Given the description of an element on the screen output the (x, y) to click on. 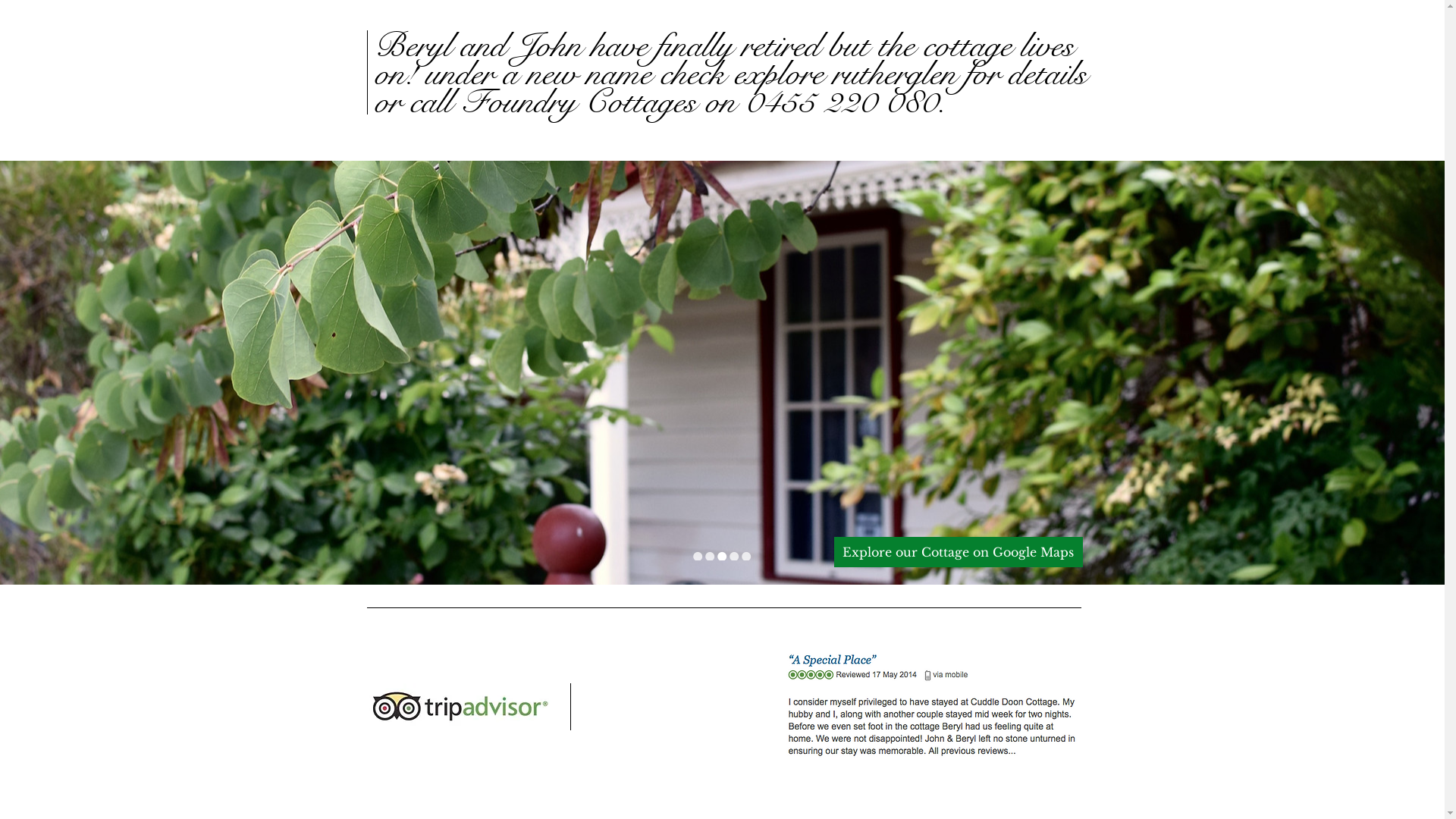
Explore our Cottage on Google Maps Element type: text (958, 551)
trip-advisor-logo.jpg Element type: hover (460, 706)
